Given the description of an element on the screen output the (x, y) to click on. 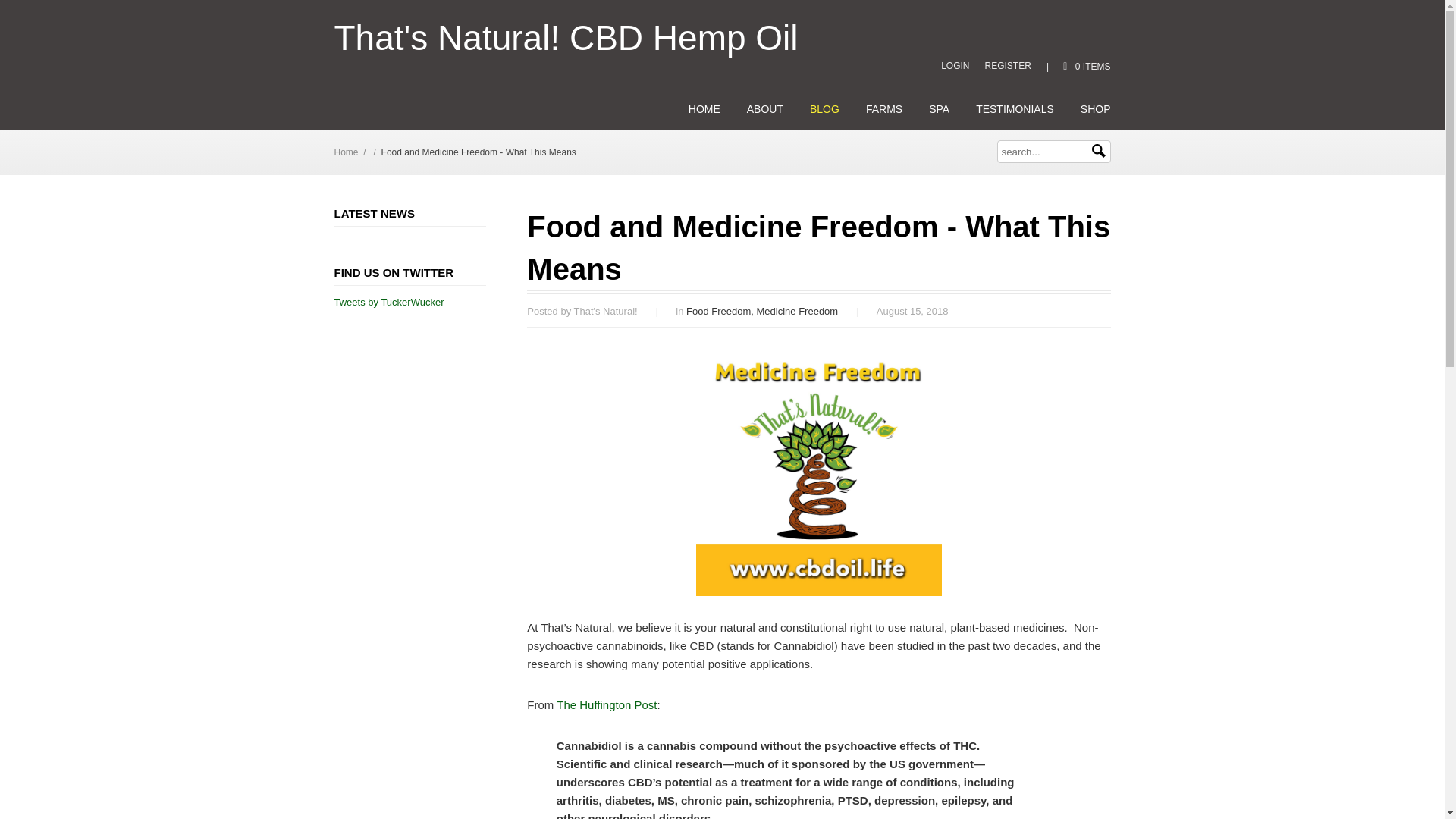
Search (1098, 151)
SHOP (1095, 109)
HOME (704, 109)
Search (1098, 151)
Food Freedom, (721, 310)
Medicine Freedom (797, 310)
BLOG (824, 109)
The Huffington Post (606, 704)
Home (345, 152)
LOGIN (954, 65)
SPA (938, 109)
ABOUT (764, 109)
Tweets by TuckerWucker (388, 301)
That's Natural! CBD Hemp Oil (565, 37)
